Given the description of an element on the screen output the (x, y) to click on. 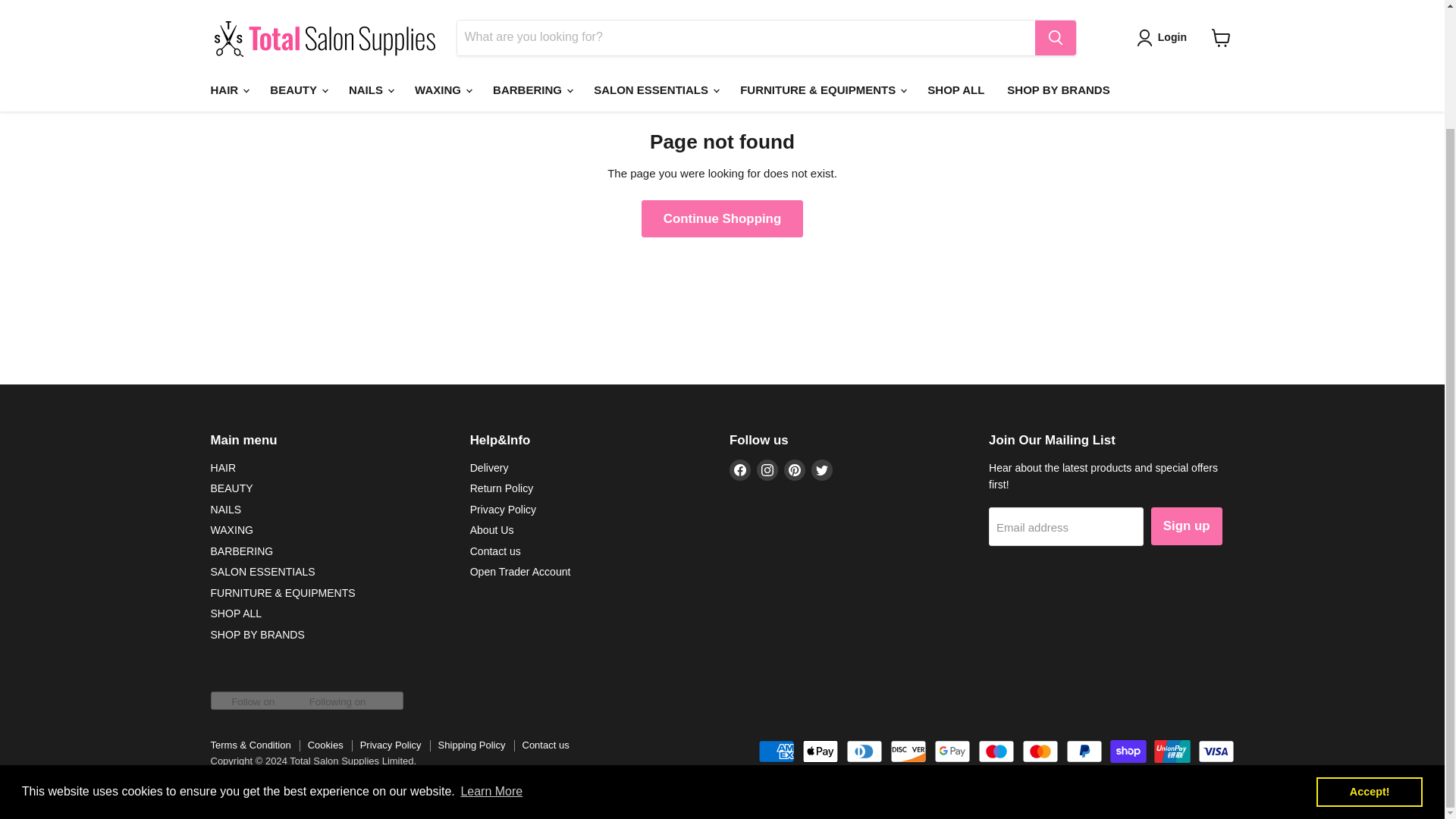
American Express (776, 751)
Learn More (491, 649)
Twitter (821, 469)
Apple Pay (820, 751)
Instagram (767, 469)
Facebook (740, 469)
Pinterest (794, 469)
Accept! (1369, 649)
View cart (1221, 1)
